Given the description of an element on the screen output the (x, y) to click on. 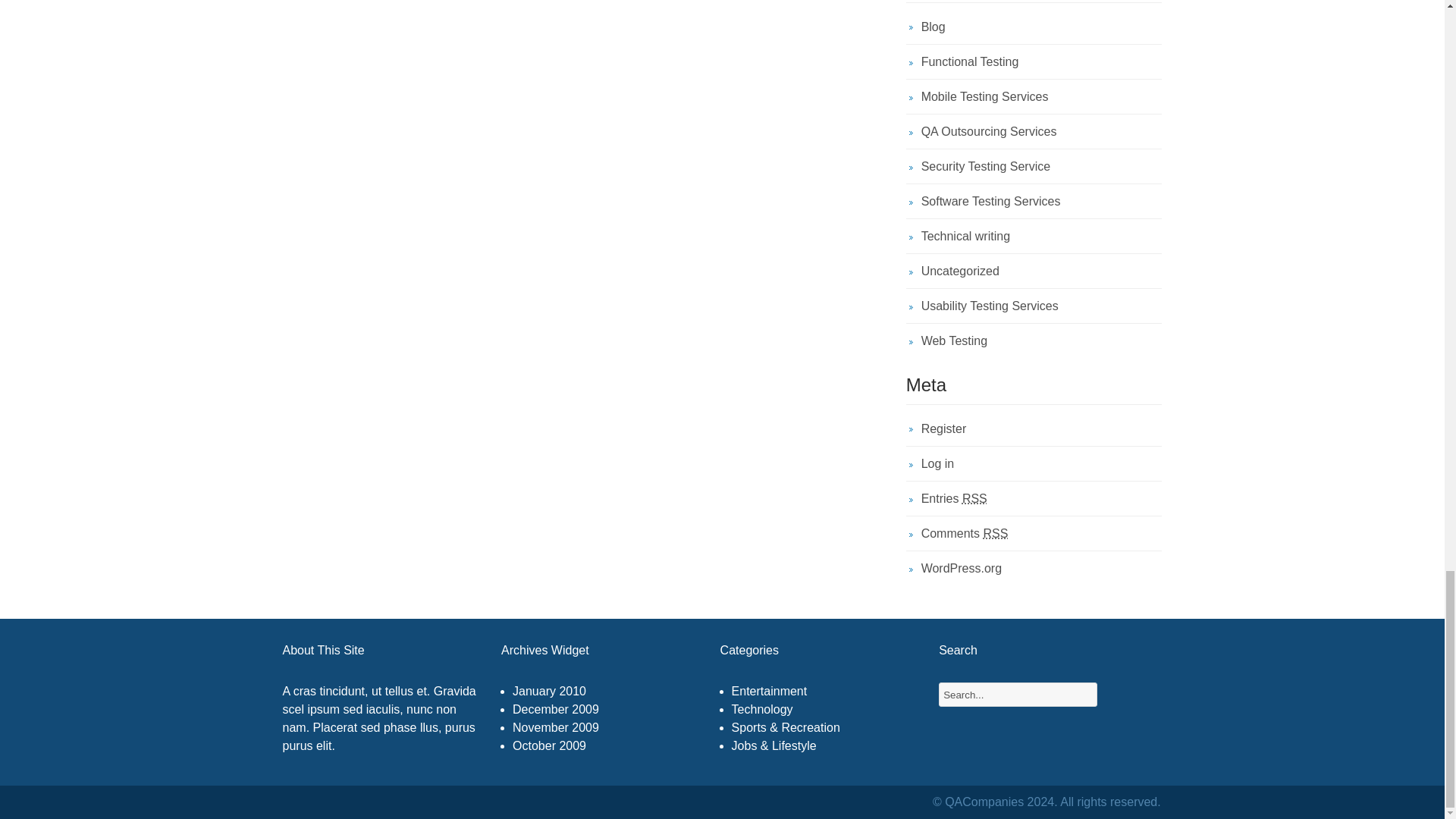
Search... (1122, 694)
Really Simple Syndication (974, 498)
Search... (1018, 694)
Really Simple Syndication (994, 533)
